Given the description of an element on the screen output the (x, y) to click on. 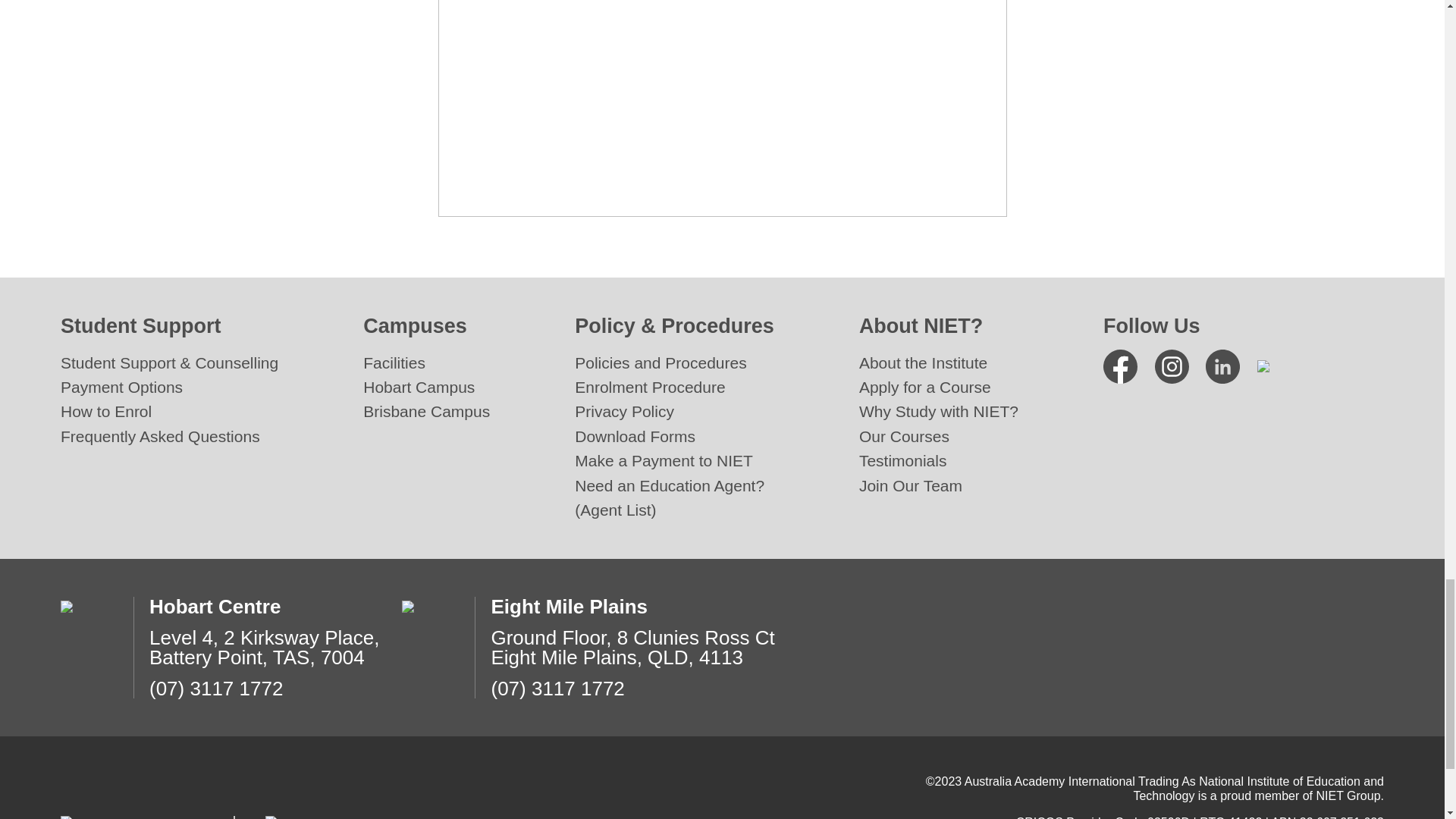
Frequently Asked Questions (160, 436)
Facilities (393, 362)
Payment Options (122, 386)
Hobart Campus (418, 386)
How to Enrol (106, 411)
